Given the description of an element on the screen output the (x, y) to click on. 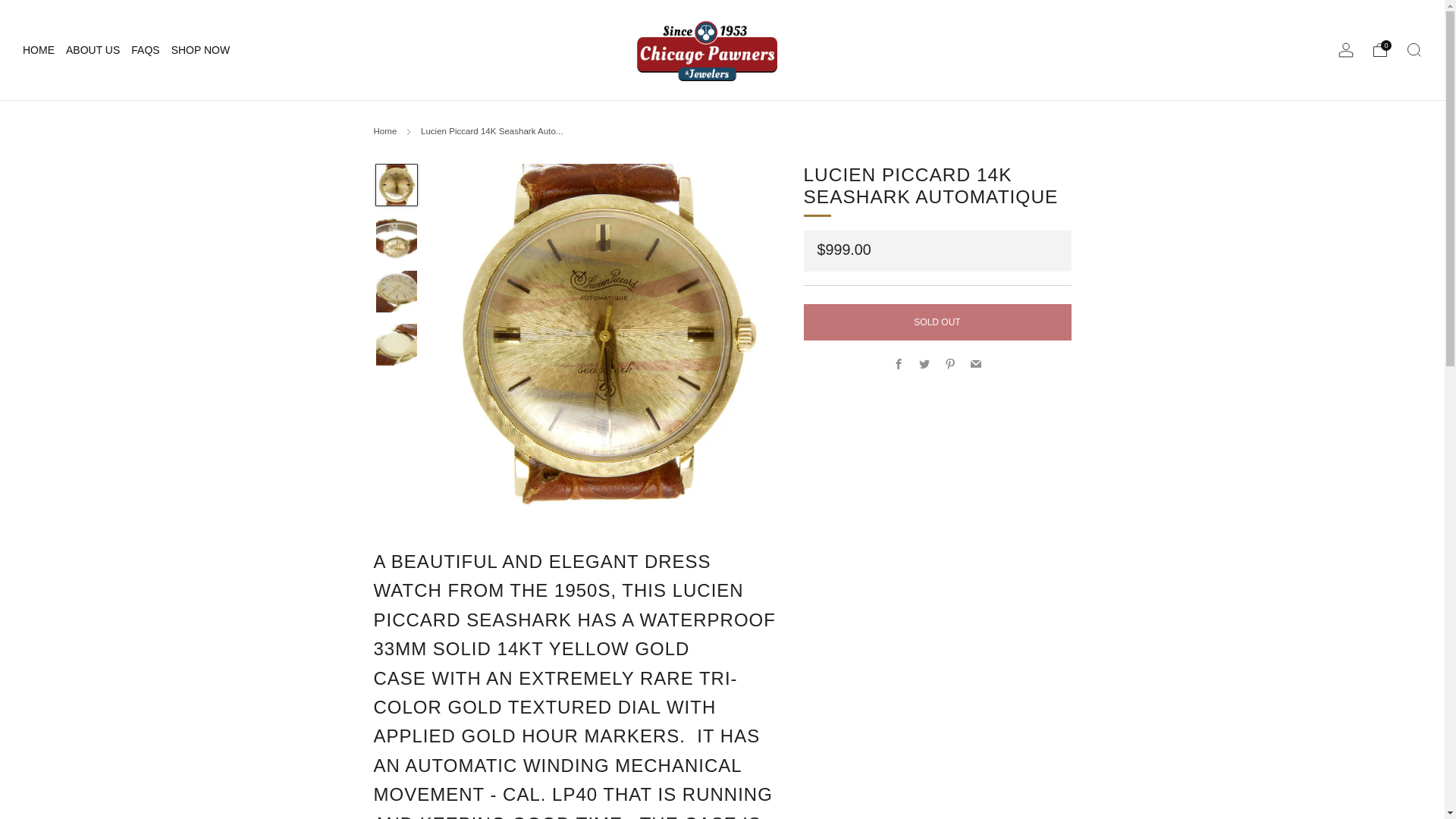
HOME (39, 49)
SHOP NOW (200, 49)
ABOUT US (92, 49)
0 (1380, 49)
FAQS (144, 49)
Home (384, 130)
